Given the description of an element on the screen output the (x, y) to click on. 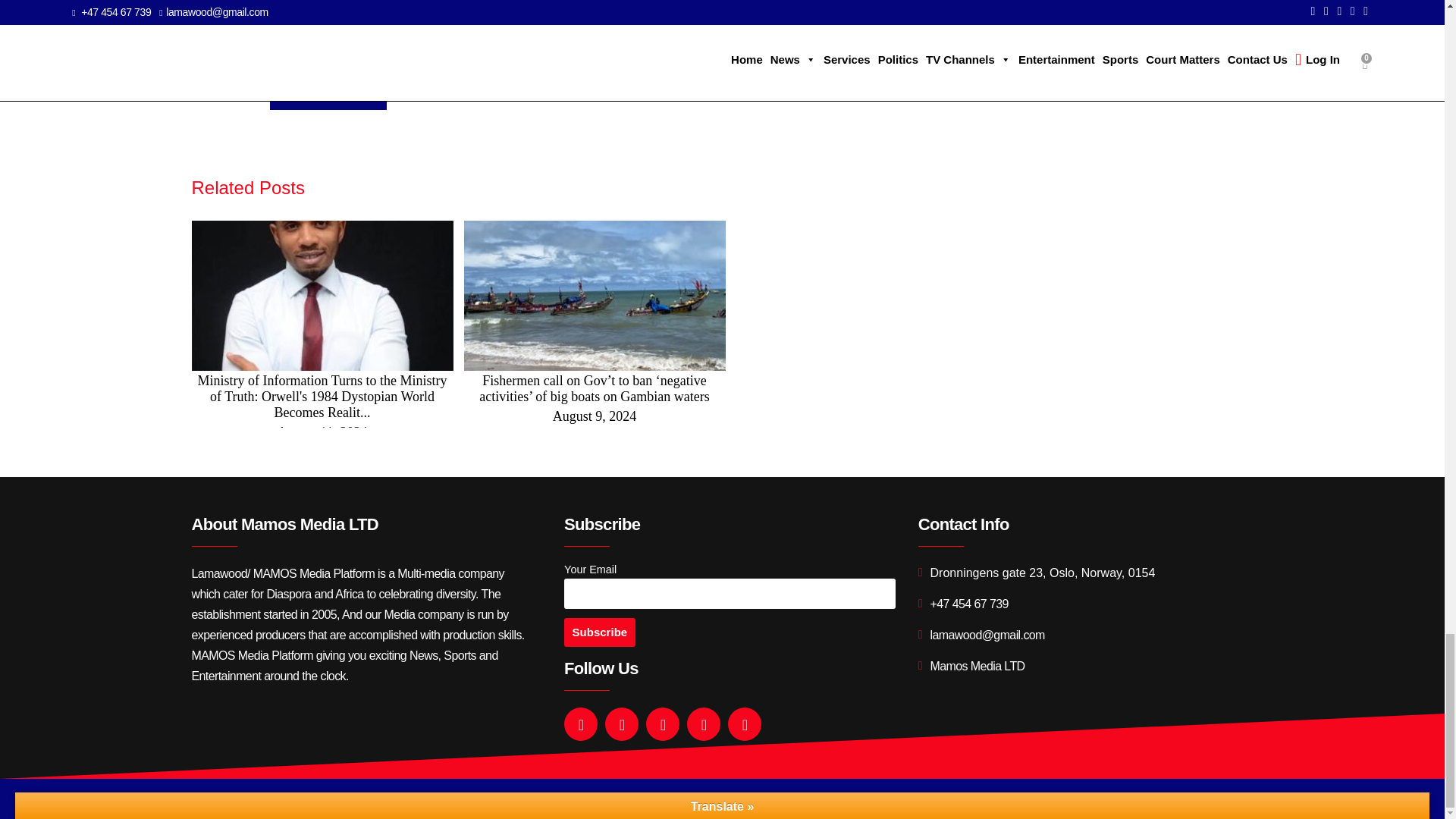
Subscribe (599, 632)
Post a Comment (328, 93)
yes (277, 59)
